Given the description of an element on the screen output the (x, y) to click on. 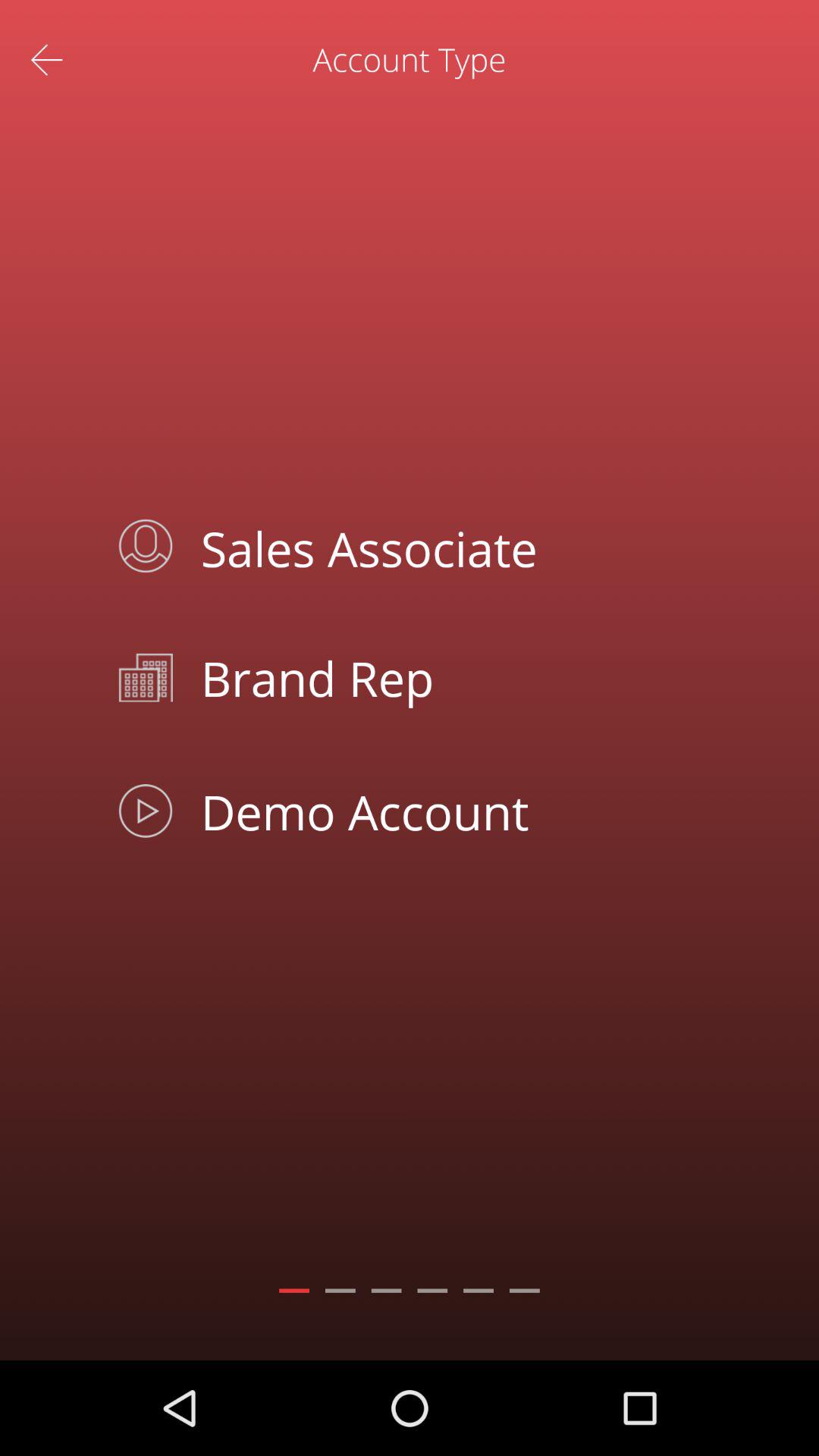
open app above brand rep item (444, 546)
